Given the description of an element on the screen output the (x, y) to click on. 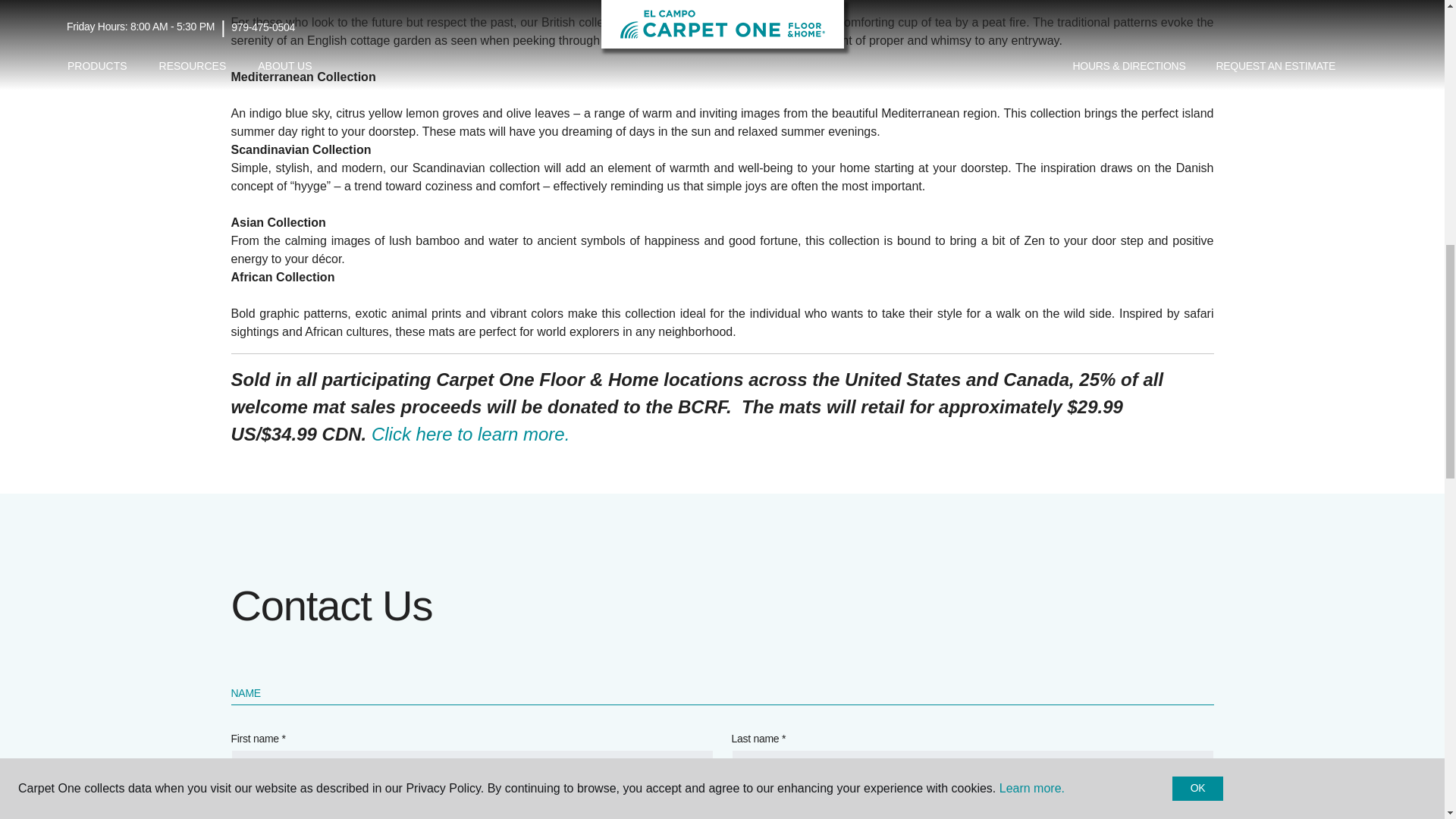
LastName (971, 777)
FirstName (471, 777)
